Given the description of an element on the screen output the (x, y) to click on. 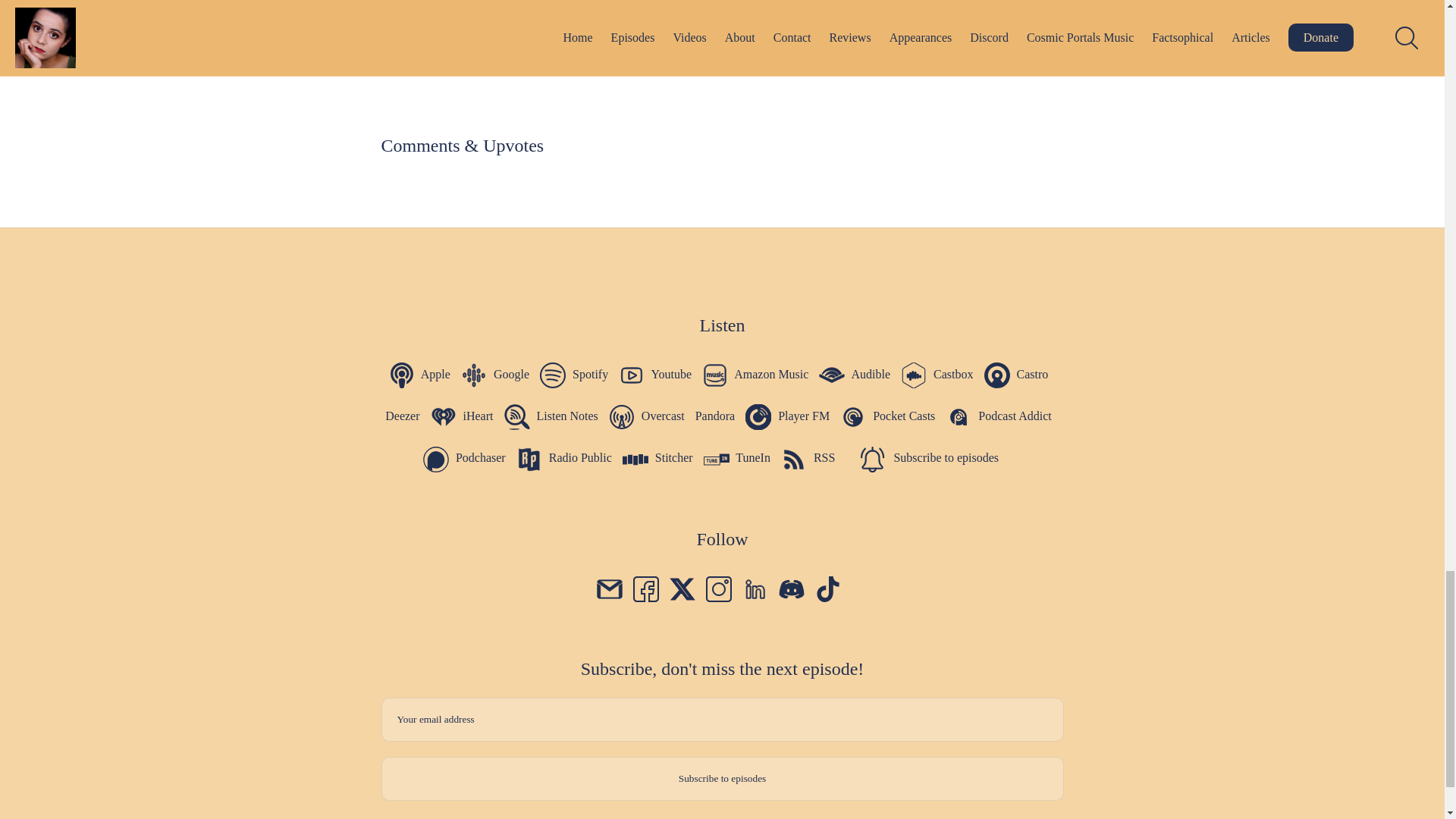
Google (495, 373)
Subscribe to episodes (721, 778)
Send (716, 108)
Apple (418, 373)
click here (604, 69)
Facebook (644, 587)
Chinese Encounters with UFOs and Aliens Video Here (578, 38)
Instagram (717, 587)
TikTok (826, 587)
Twitter (681, 587)
